Given the description of an element on the screen output the (x, y) to click on. 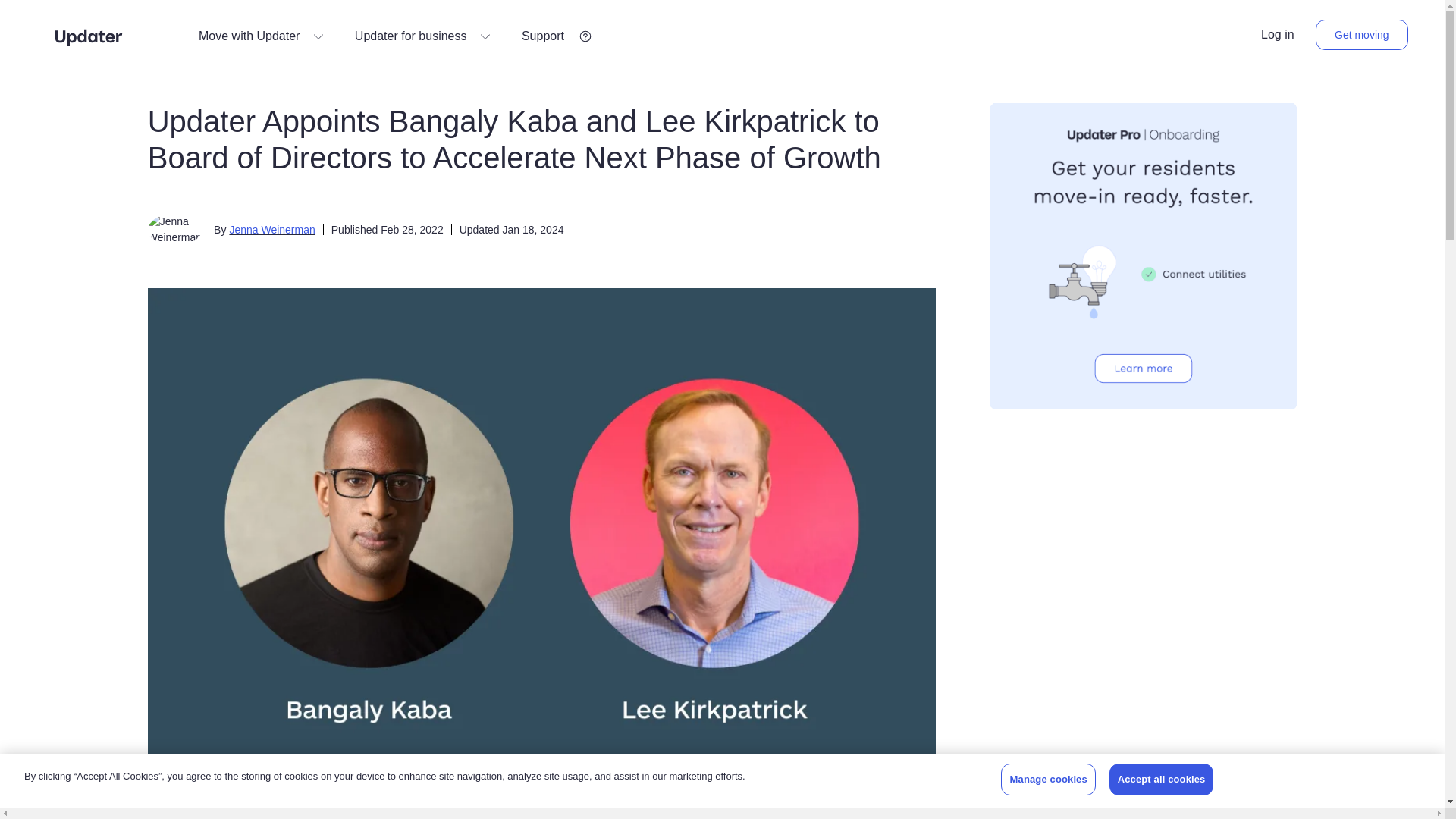
Get moving (1361, 34)
Updater for business (422, 36)
Move with Updater (261, 36)
Updater (88, 36)
Support (554, 35)
Log in (1277, 34)
